Given the description of an element on the screen output the (x, y) to click on. 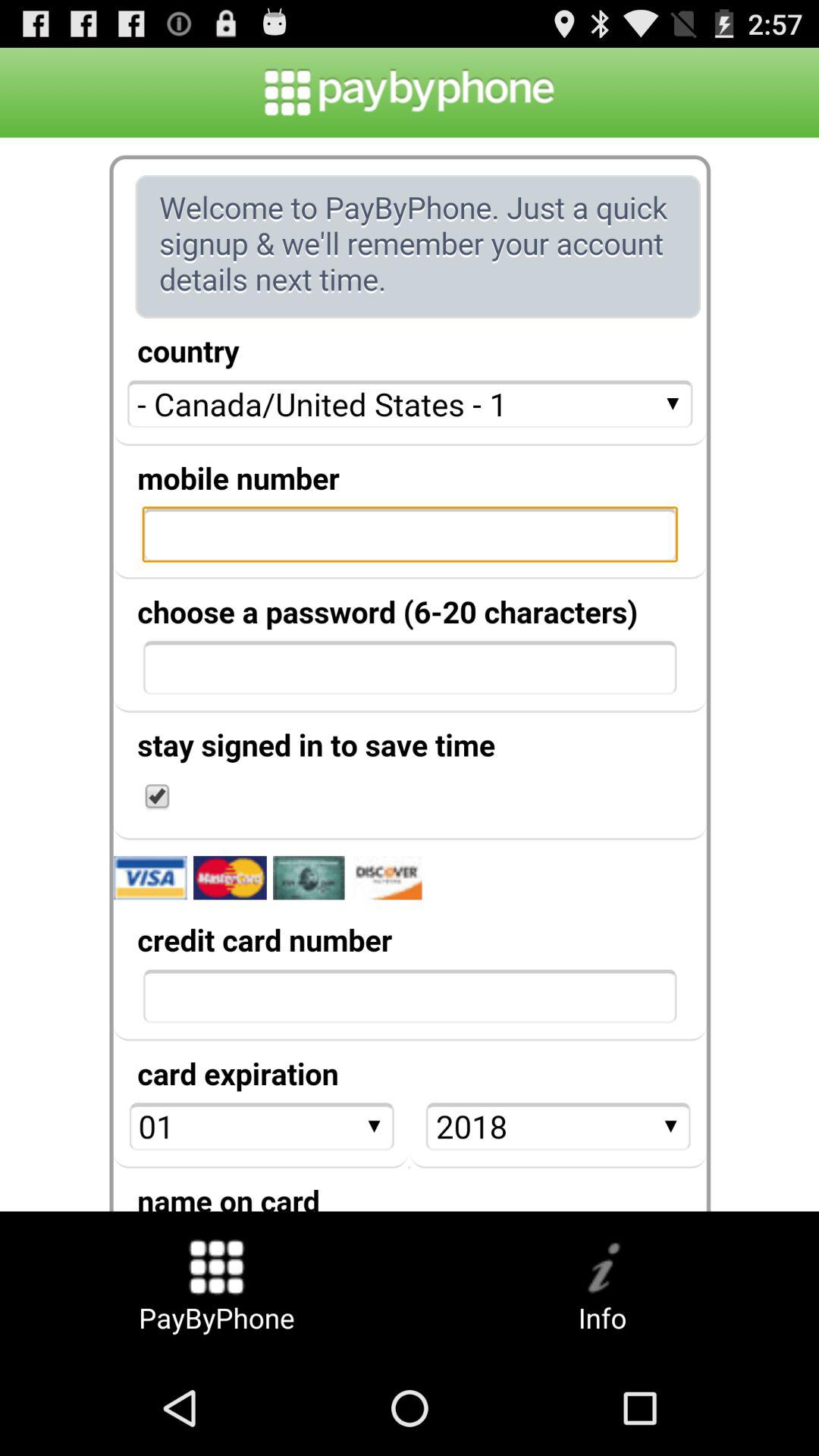
enter credit card details (409, 674)
